Given the description of an element on the screen output the (x, y) to click on. 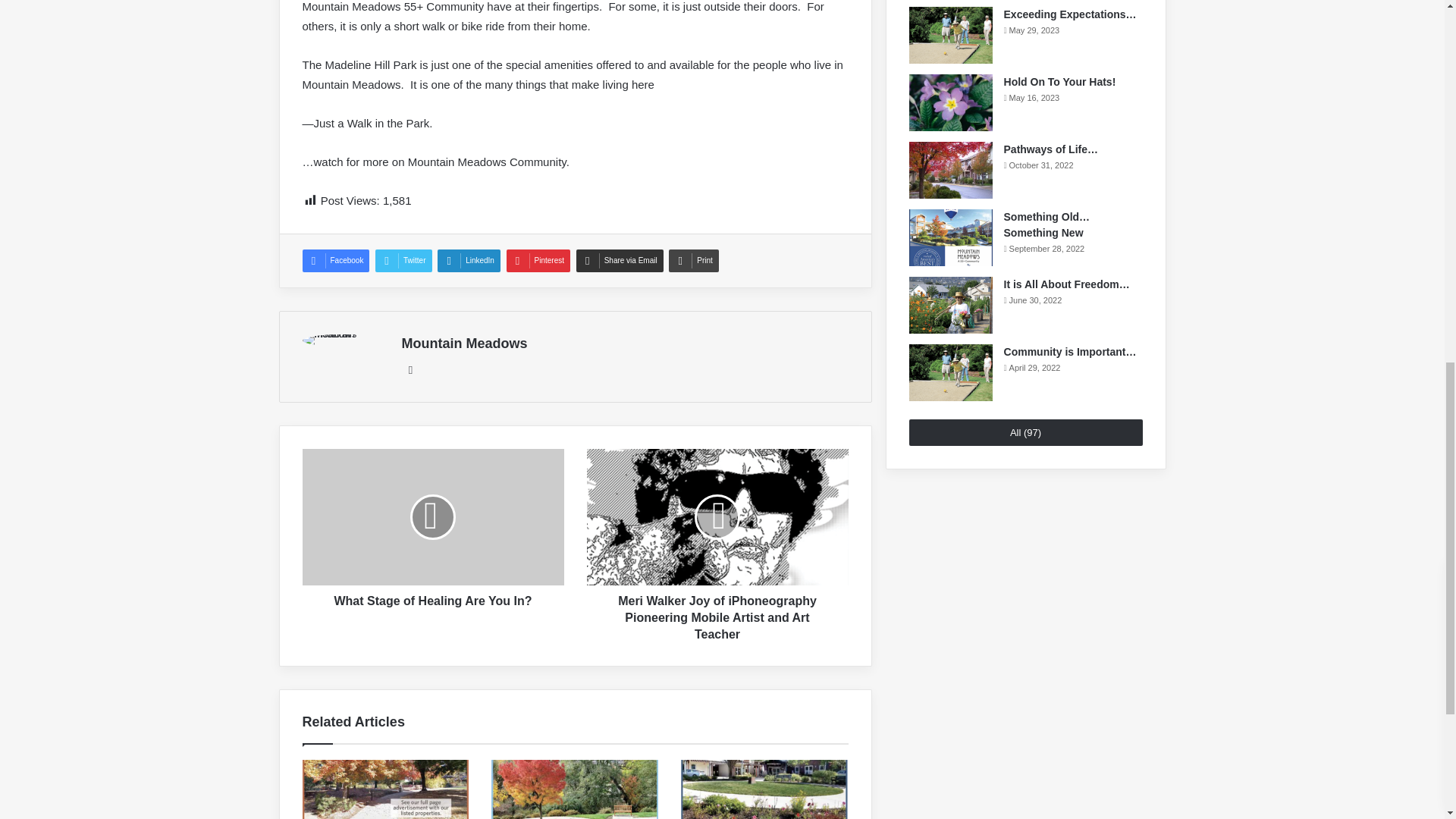
Print (693, 260)
Twitter (402, 260)
Facebook (335, 260)
LinkedIn (469, 260)
Pinterest (538, 260)
What Stage of Healing Are You In? (432, 597)
Print (693, 260)
LinkedIn (469, 260)
Pinterest (538, 260)
Website (410, 370)
Facebook (335, 260)
Share via Email (619, 260)
Share via Email (619, 260)
Twitter (402, 260)
